Given the description of an element on the screen output the (x, y) to click on. 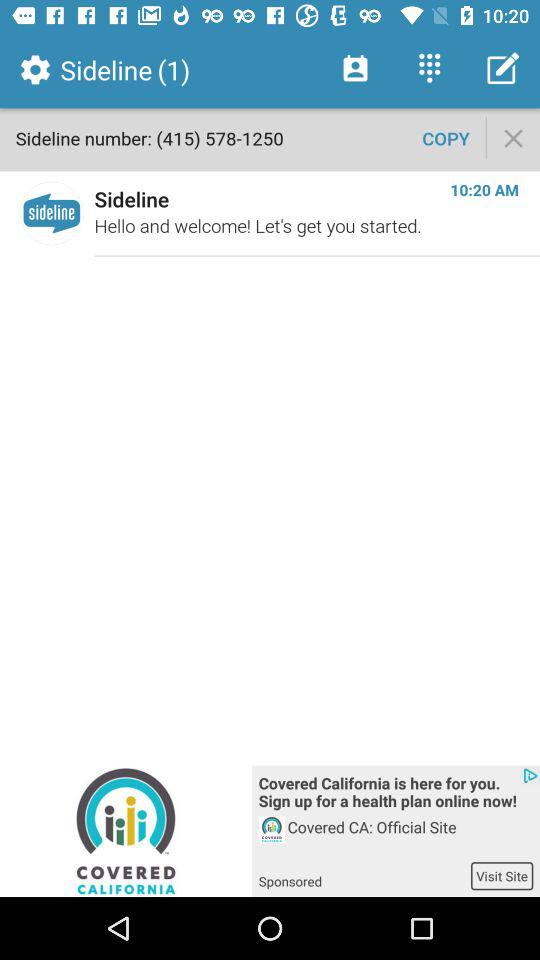
scroll to copy item (446, 138)
